Given the description of an element on the screen output the (x, y) to click on. 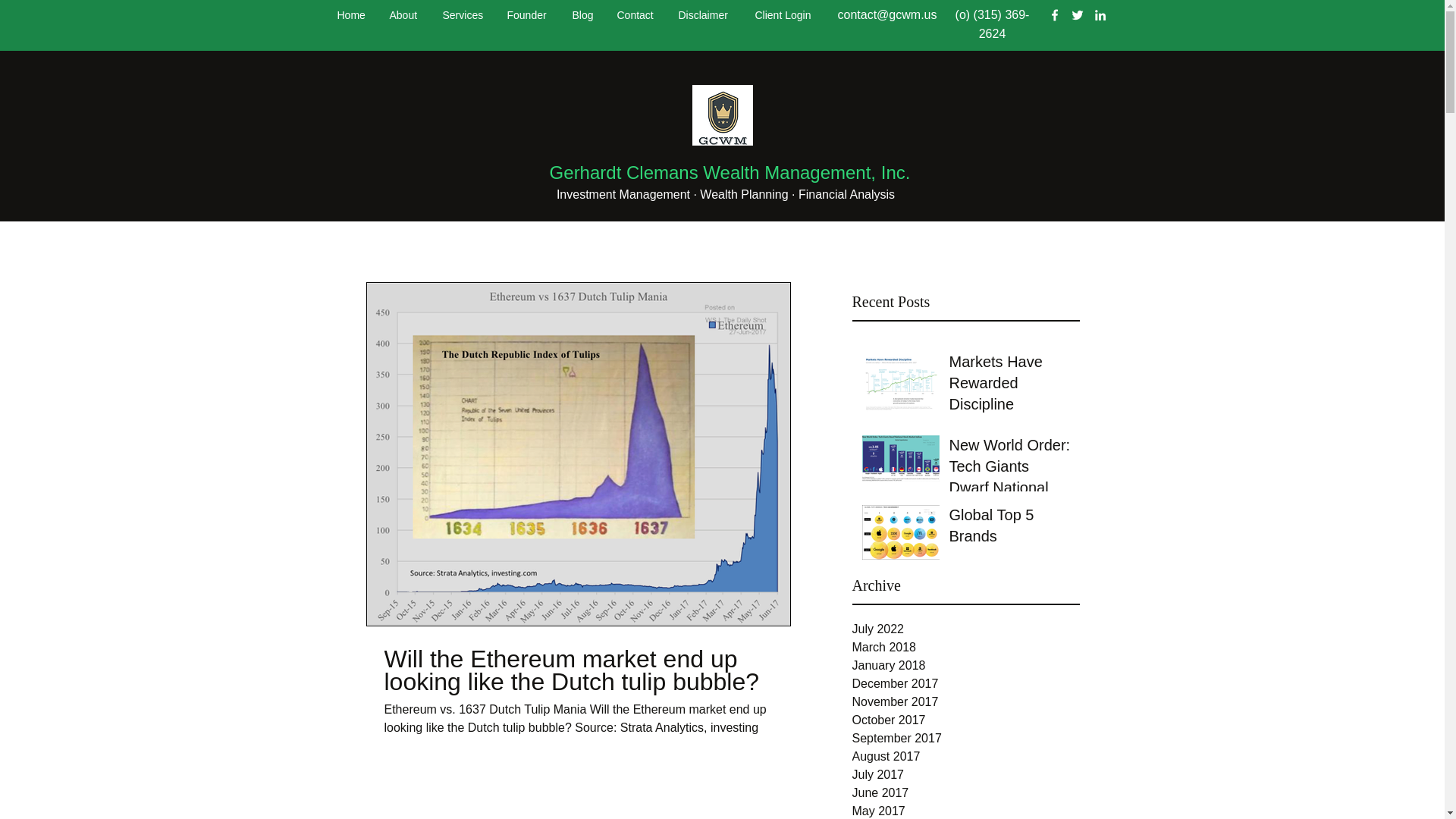
June 2017 (965, 792)
Services (462, 15)
September 2017 (965, 738)
March 2018 (965, 647)
Global Top 5 Brands (1009, 528)
Founder (528, 15)
December 2017 (965, 683)
Disclaimer (705, 15)
October 2017 (965, 720)
